Given the description of an element on the screen output the (x, y) to click on. 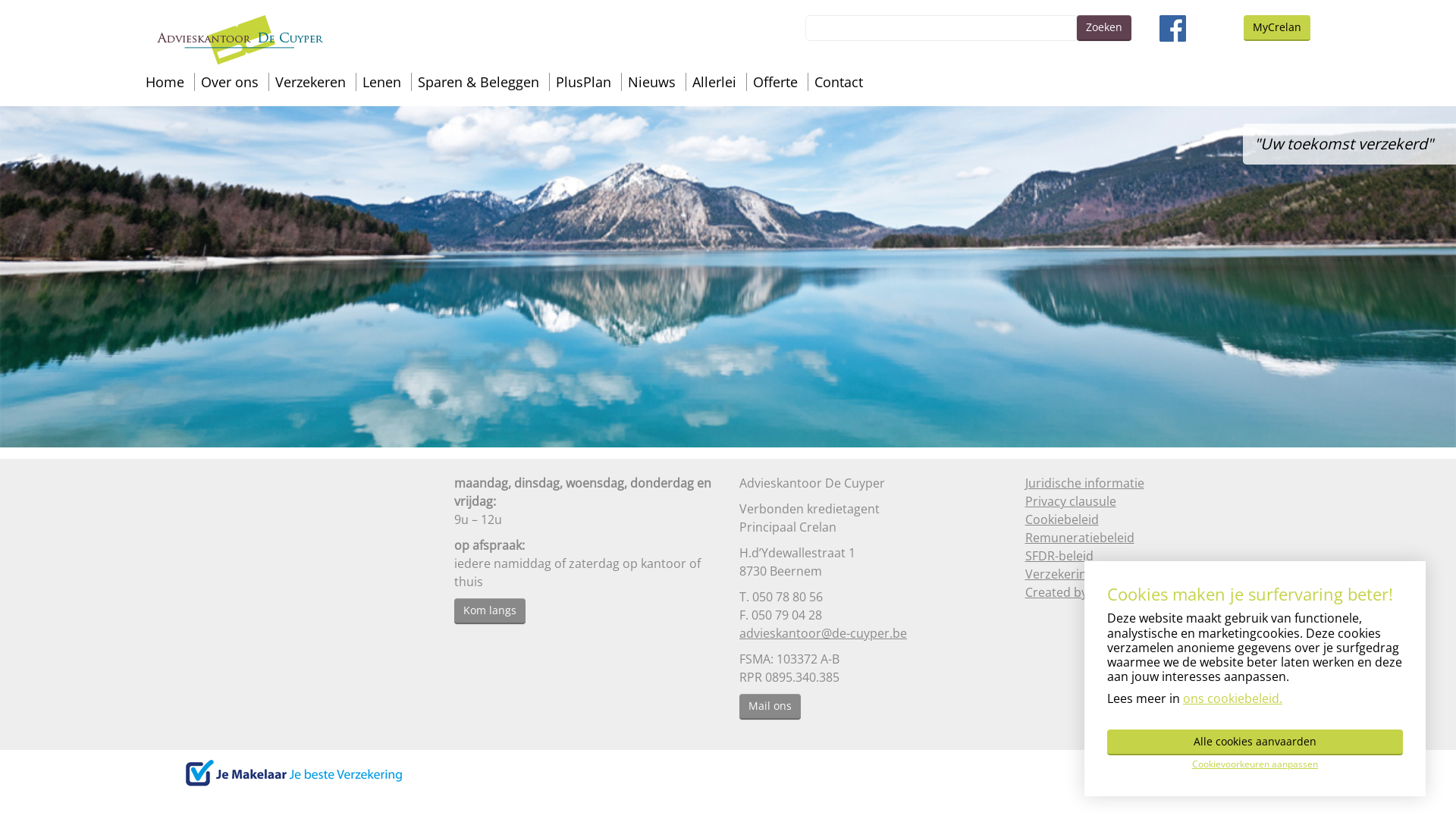
Cookievoorkeuren aanpassen Element type: text (1254, 764)
Alle cookies aanvaarden Element type: text (1254, 742)
Over ons Element type: text (229, 81)
Created by Insucommerce Element type: text (1100, 591)
Offerte Element type: text (775, 81)
Zoeken Element type: text (1103, 27)
Verzekeringsondernemingen Element type: text (1108, 573)
SFDR-beleid Element type: text (1059, 555)
Je makelaar, je beste verzekering Element type: hover (293, 773)
Juridische informatie Element type: text (1084, 482)
Mail ons Element type: text (769, 706)
ons cookiebeleid. Element type: text (1232, 698)
Contact Element type: text (838, 81)
advieskantoor@de-cuyper.be Element type: text (822, 632)
Home Element type: text (164, 81)
Nieuws Element type: text (651, 81)
Verzekeren Element type: text (310, 81)
Sparen & Beleggen Element type: text (478, 81)
PlusPlan Element type: text (583, 81)
Kom langs Element type: text (488, 611)
Allerlei Element type: text (714, 81)
Privacy clausule Element type: text (1070, 500)
Remuneratiebeleid Element type: text (1079, 537)
Lenen Element type: text (381, 81)
Cookiebeleid Element type: text (1061, 519)
MyCrelan Element type: text (1276, 27)
